Given the description of an element on the screen output the (x, y) to click on. 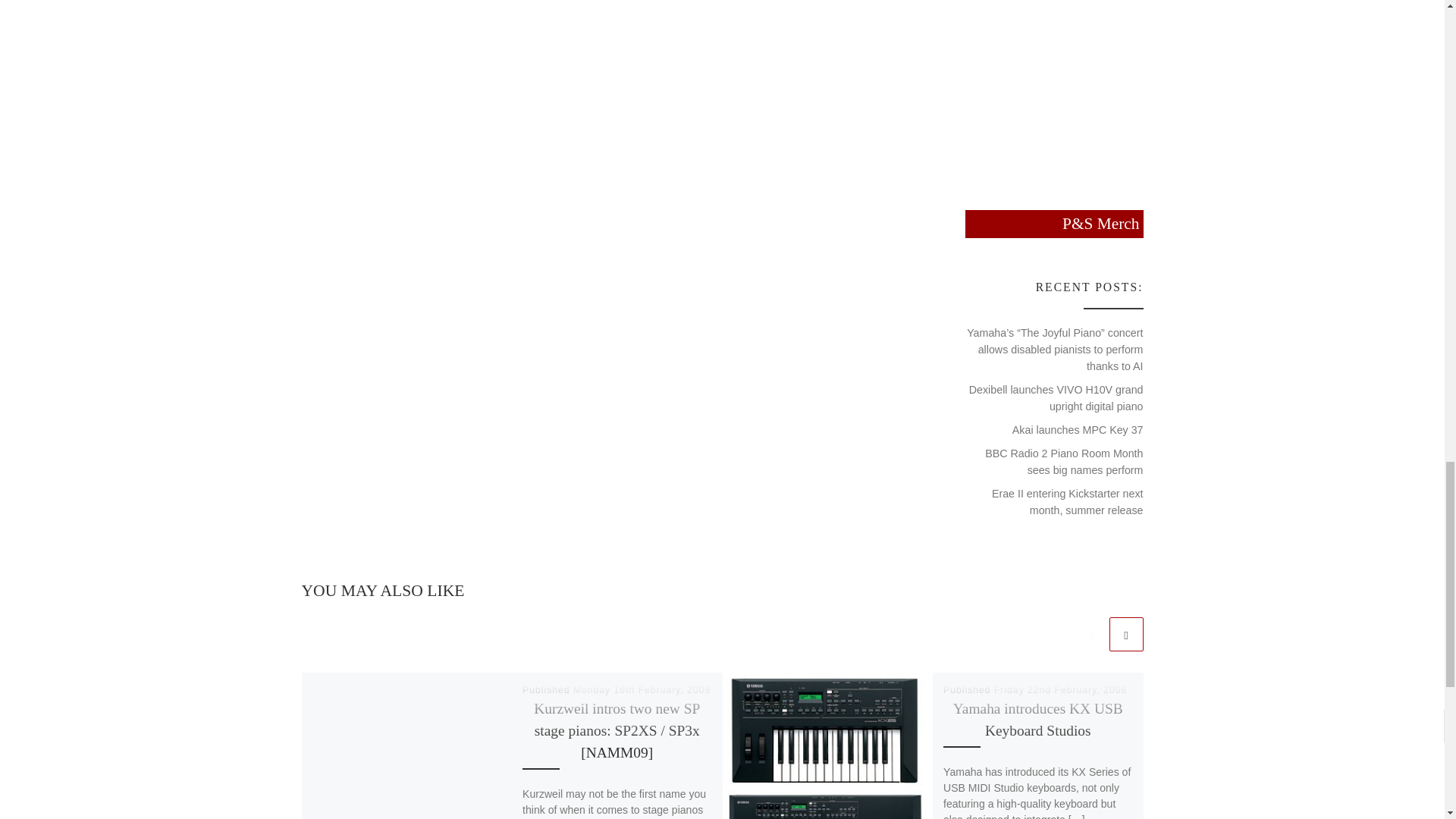
Yamaha introduces KX USB Keyboard Studios (1037, 719)
Friday 22nd February, 2008 (1060, 689)
Next related articles (1125, 634)
Monday 16th February, 2009 (641, 689)
Previous related articles (1092, 634)
